Given the description of an element on the screen output the (x, y) to click on. 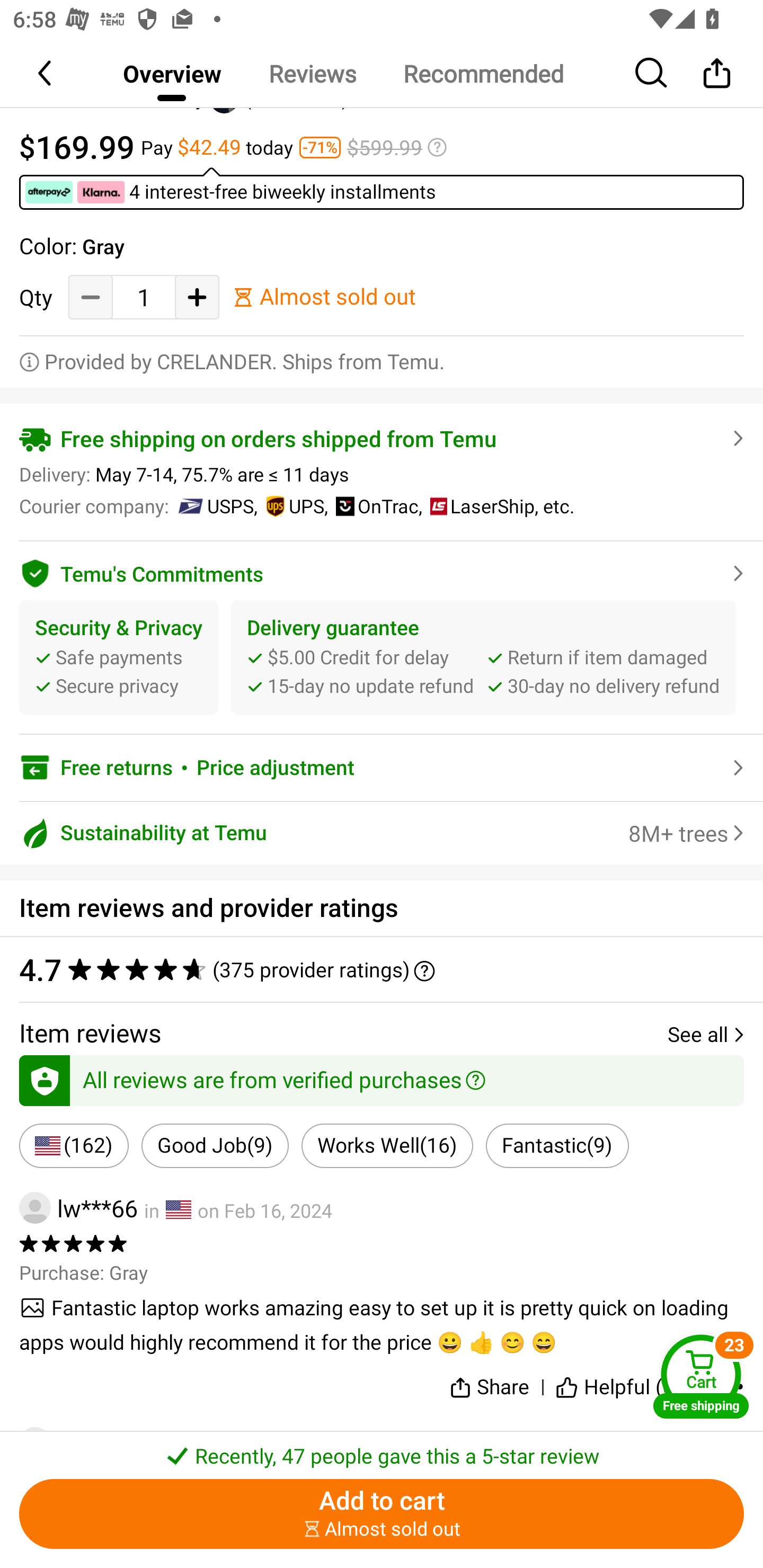
Overview (171, 72)
Reviews (311, 72)
Recommended (482, 72)
Back (46, 72)
Share (716, 72)
￼ ￼ 4 interest-free biweekly installments (381, 188)
Decrease Quantity Button (90, 296)
Add Quantity button (196, 296)
1 (143, 297)
Temu's Commitments (381, 570)
Security & Privacy Safe payments Secure privacy (118, 657)
Free returns￼Price adjustment (381, 768)
Sustainability at Temu 8M+ trees (381, 832)
4.7 ‪(375 provider ratings) (371, 969)
All reviews are from verified purchases  (381, 1076)
(162) (73, 1146)
Good Job(9) (214, 1146)
Works Well(16) (387, 1146)
Fantastic(9) (557, 1146)
lw***66 (78, 1207)
Cart Free shipping Cart (701, 1375)
  Share (489, 1383)
￼￼Recently, 47 people gave this a 5-star review (381, 1450)
Add to cart ￼￼Almost sold out (381, 1513)
